Given the description of an element on the screen output the (x, y) to click on. 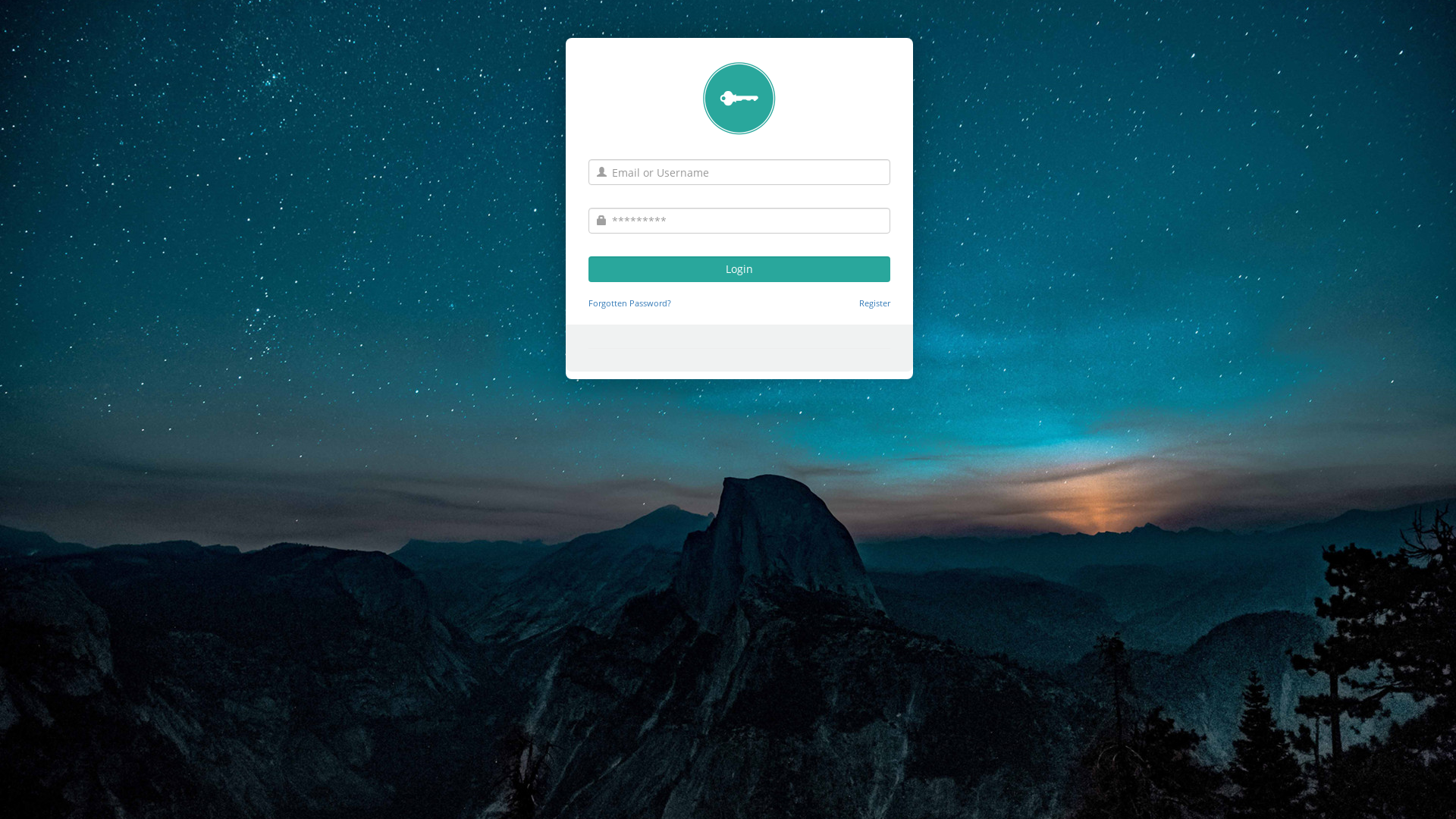
Register Element type: text (874, 302)
Login Element type: text (739, 269)
Forgotten Password? Element type: text (629, 302)
